Given the description of an element on the screen output the (x, y) to click on. 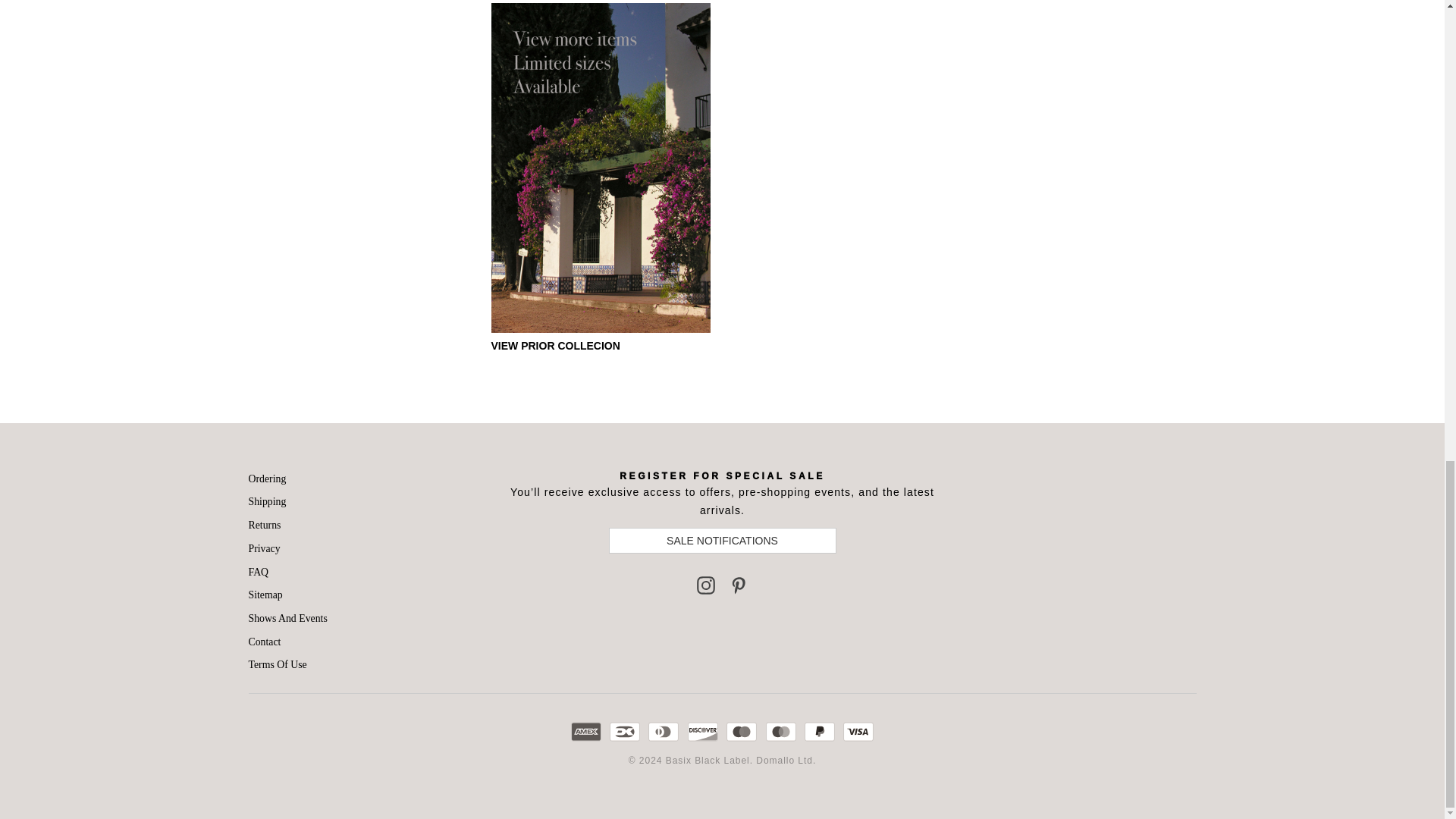
Mastercard (780, 731)
American Express (585, 731)
Pinterest (738, 585)
Maestro (741, 731)
Instagram (705, 585)
Discover (702, 731)
PayPal (819, 731)
Diners Club (662, 731)
Dankort (625, 731)
Visa (858, 731)
